Given the description of an element on the screen output the (x, y) to click on. 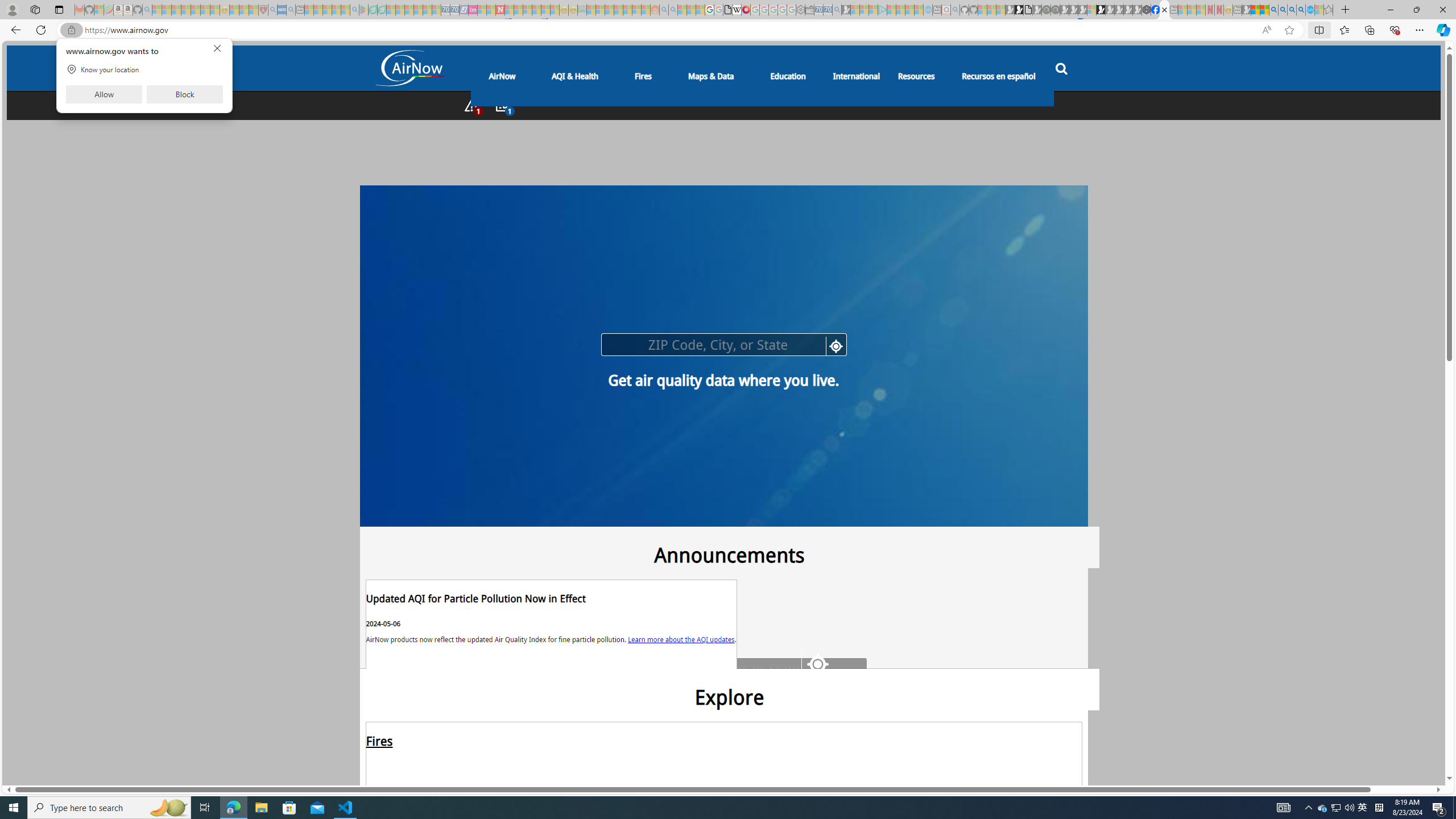
Bing AI - Search (1272, 9)
Get Current and Forecast Air Quality for Your Area (784, 105)
